Given the description of an element on the screen output the (x, y) to click on. 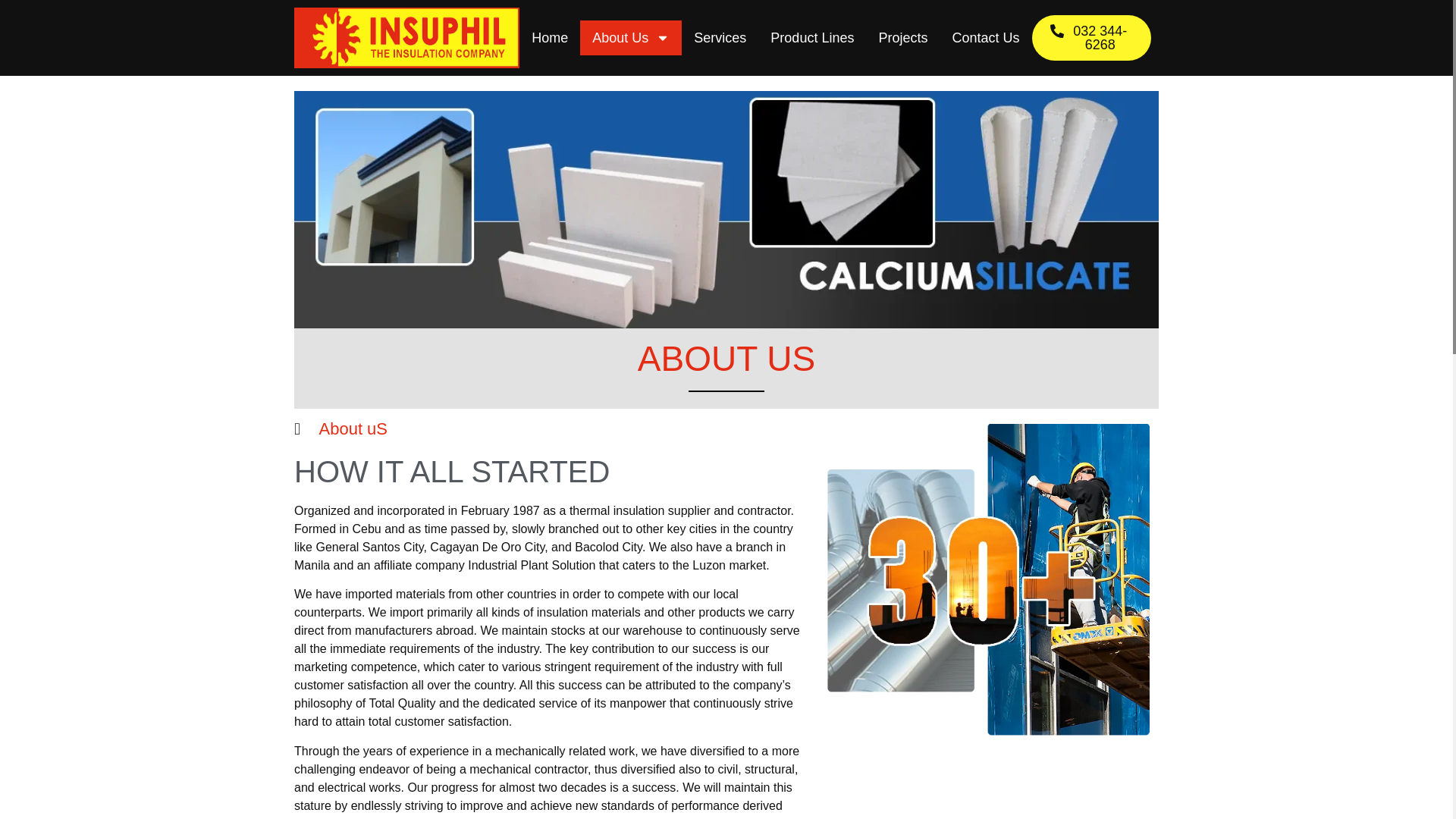
Contact Us (984, 37)
Home (549, 37)
Services (719, 37)
Product Lines (812, 37)
About Us (630, 37)
Projects (902, 37)
032 344-6268 (1091, 37)
